Given the description of an element on the screen output the (x, y) to click on. 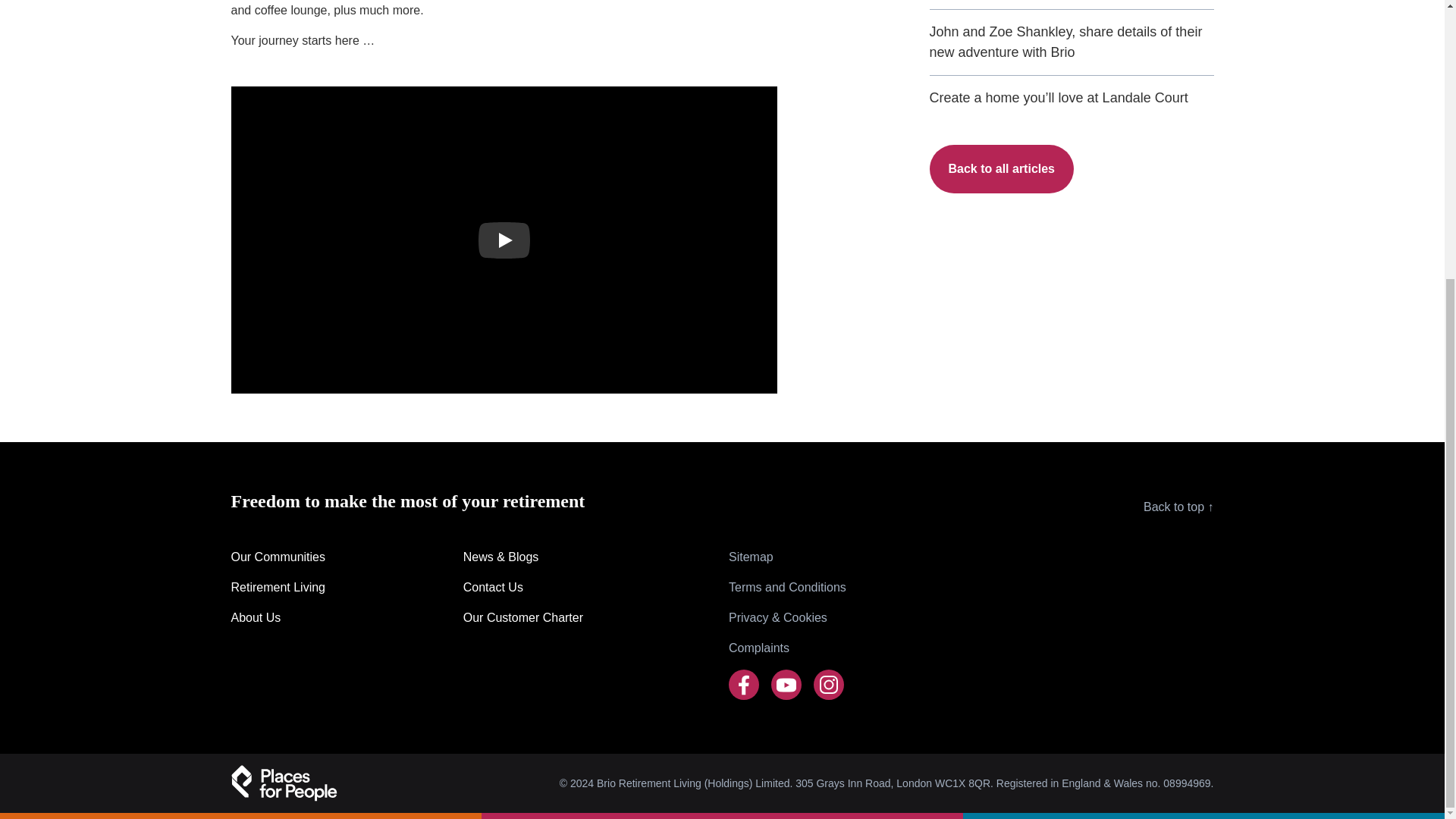
Our Customer Charter (523, 618)
Beechwood Park (503, 239)
Terms and Conditions (787, 587)
About Us (290, 618)
Sitemap (787, 556)
Our Communities (290, 556)
Complaints (787, 648)
Retirement Living (290, 587)
Contact Us (523, 587)
Why friendships are flourishing at Button House (1072, 4)
